Given the description of an element on the screen output the (x, y) to click on. 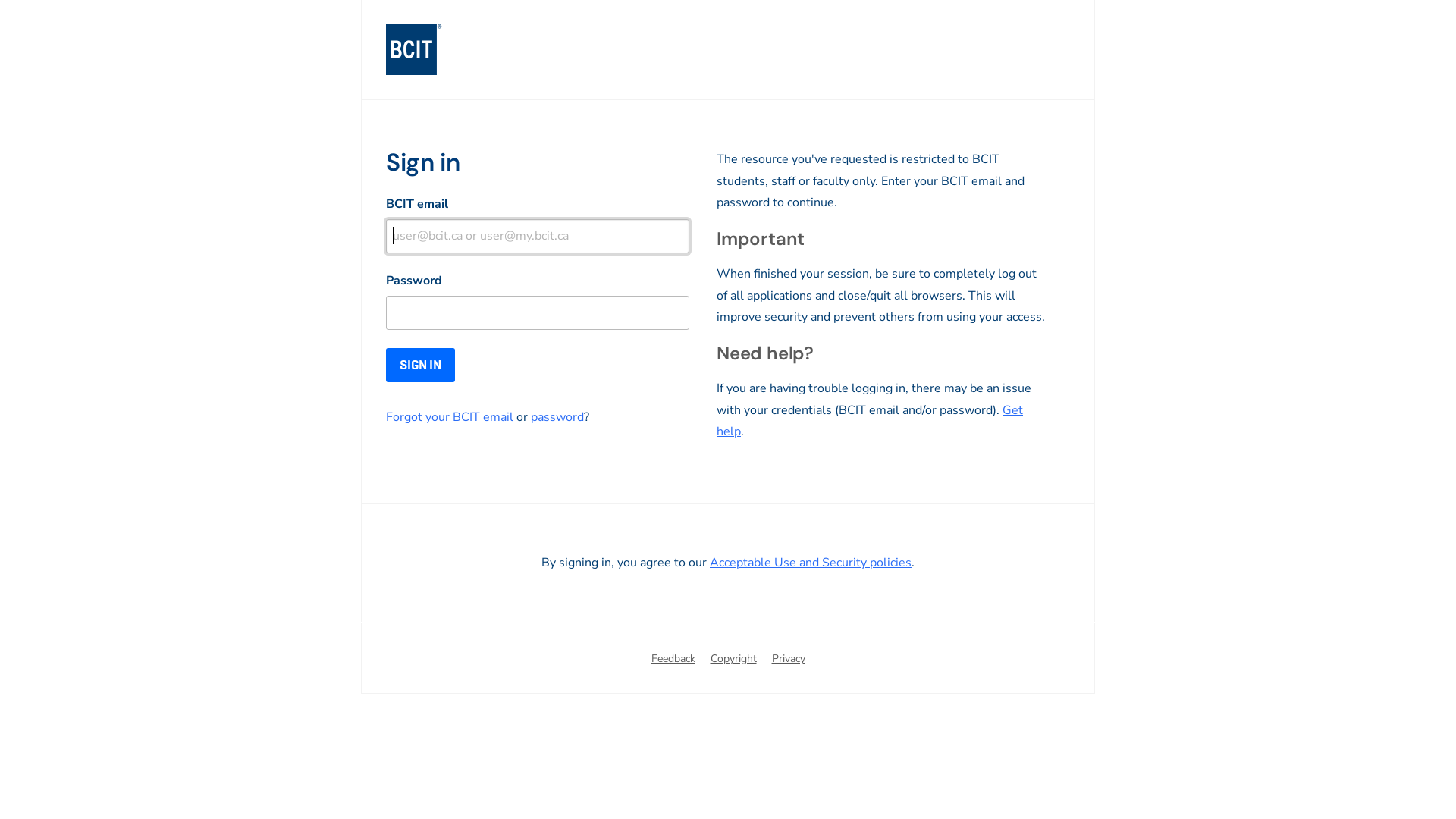
Acceptable Use and Security policies Element type: text (810, 561)
Sign in Element type: text (420, 365)
Get help Element type: text (869, 420)
Feedback Element type: text (672, 658)
Copyright Element type: text (732, 658)
Forgot your BCIT email Element type: text (449, 416)
password Element type: text (556, 416)
Privacy Element type: text (788, 658)
